Given the description of an element on the screen output the (x, y) to click on. 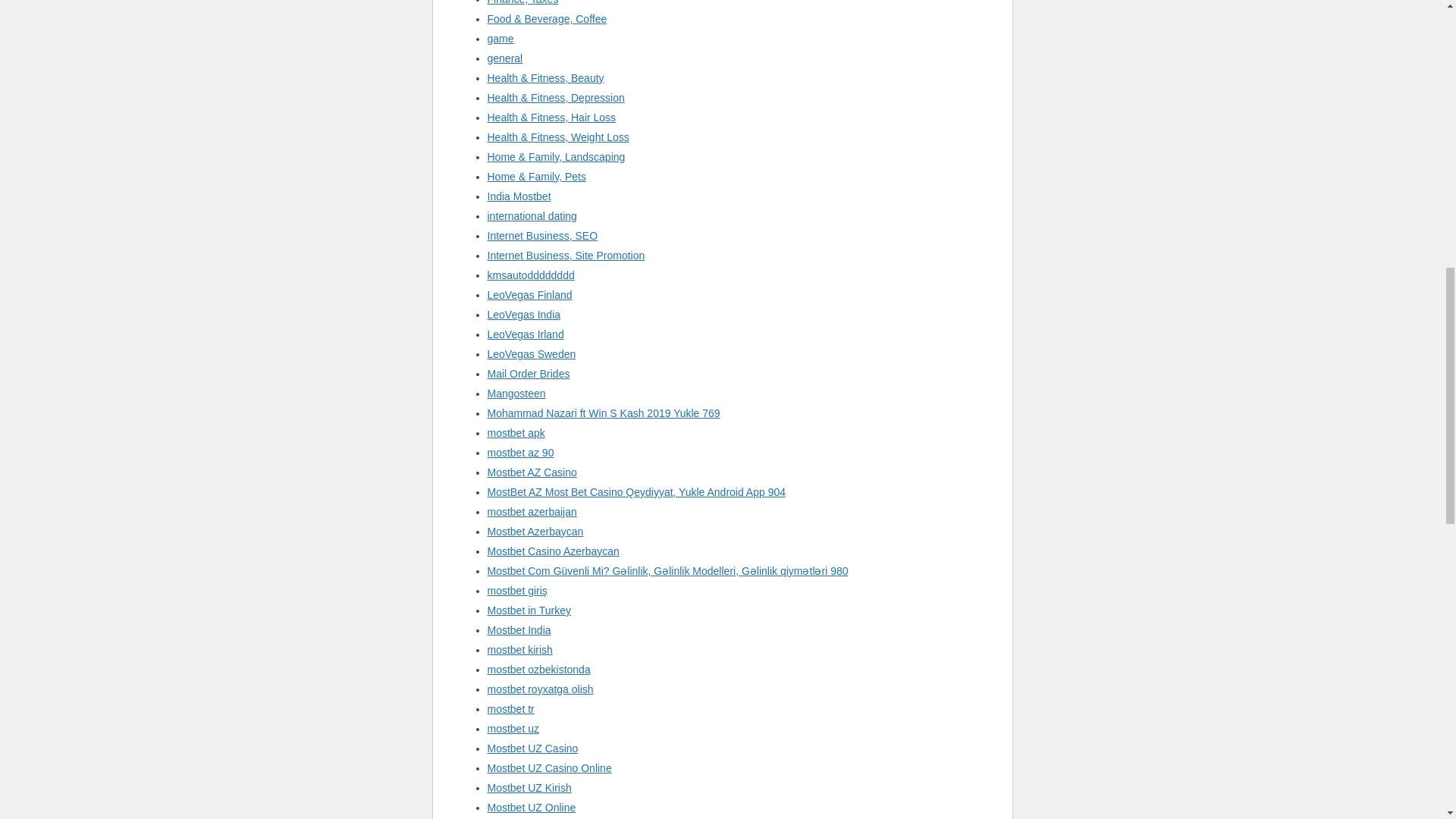
Finance, Taxes (521, 2)
game (499, 38)
